Given the description of an element on the screen output the (x, y) to click on. 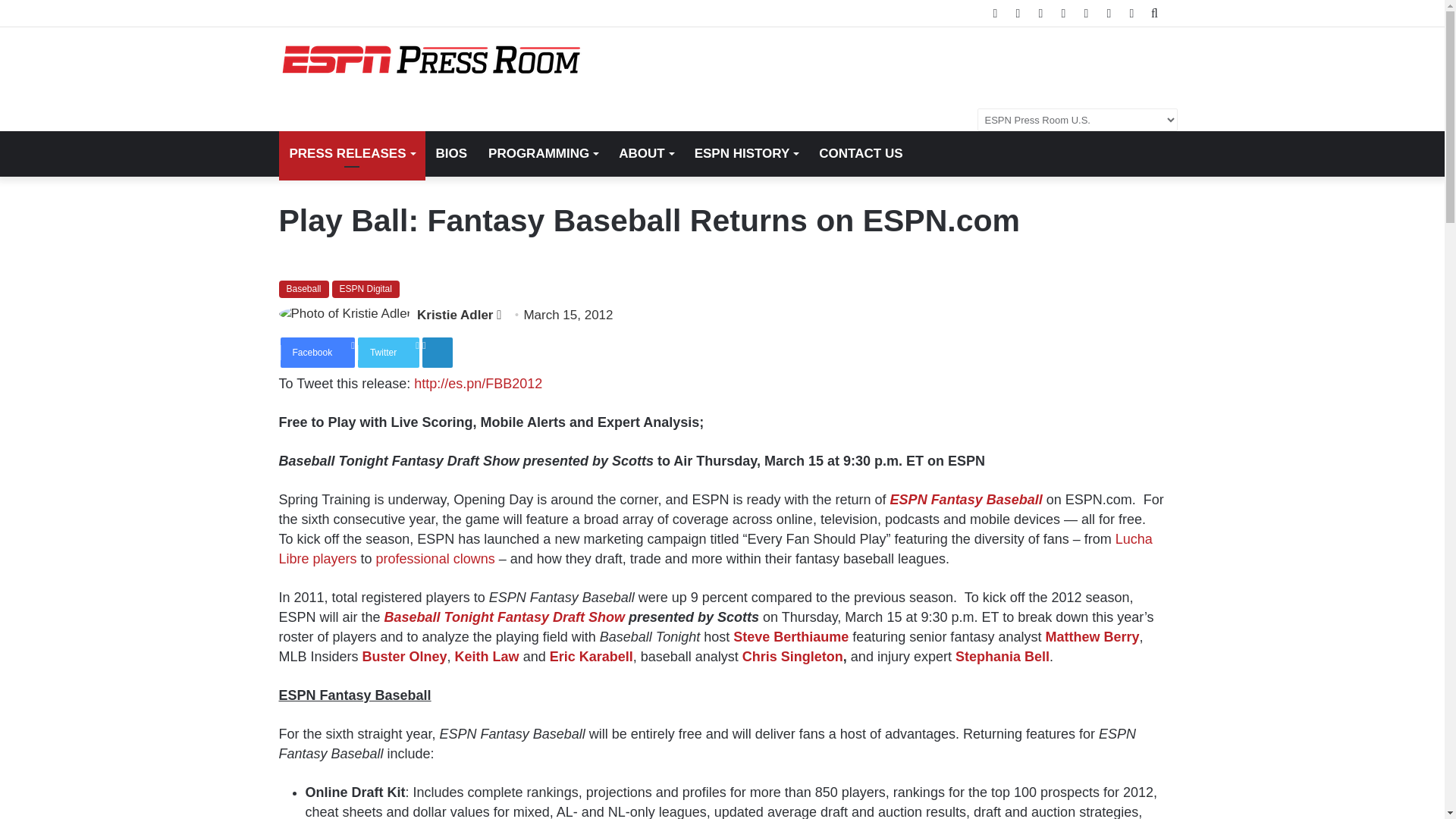
LinkedIn (437, 352)
ESPN HISTORY (746, 153)
ESPN Press Room U.S. (430, 59)
Baseball (304, 288)
Kristie Adler (454, 314)
BIOS (451, 153)
Kristie Adler (454, 314)
ESPN Digital (364, 288)
PRESS RELEASES (352, 153)
ESPN Fantasy Baseball (965, 499)
